Given the description of an element on the screen output the (x, y) to click on. 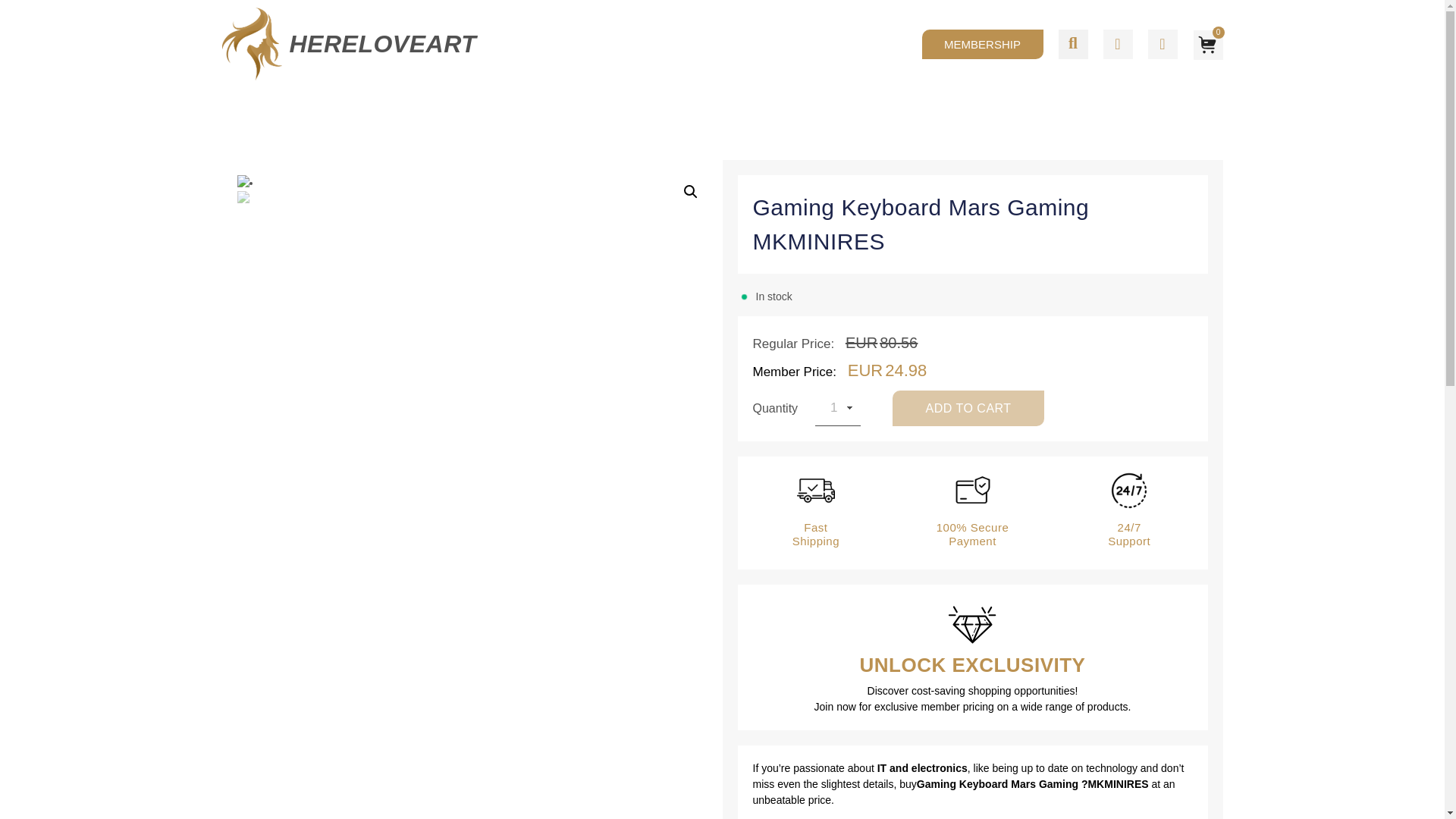
MEMBERSHIP (982, 43)
0 (1207, 43)
ADD TO CART (967, 407)
HERELOVEART (383, 43)
UNLOCK EXCLUSIVITY (973, 664)
